Given the description of an element on the screen output the (x, y) to click on. 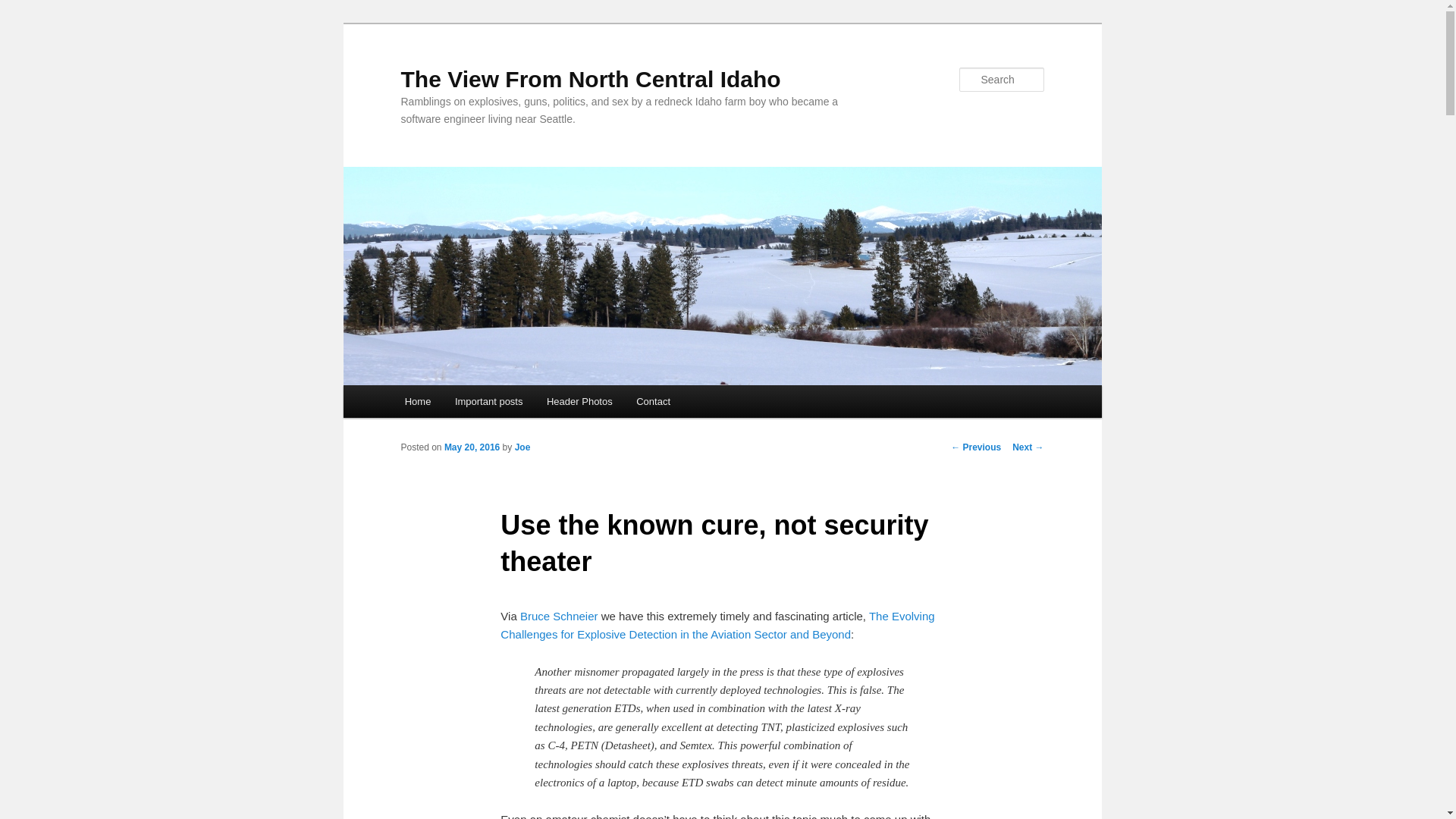
5:55 pm (471, 447)
May 20, 2016 (471, 447)
Contact (652, 400)
The View From North Central Idaho (590, 78)
Header Photos (579, 400)
Joe (523, 447)
View all posts by Joe (523, 447)
Important posts (488, 400)
